Given the description of an element on the screen output the (x, y) to click on. 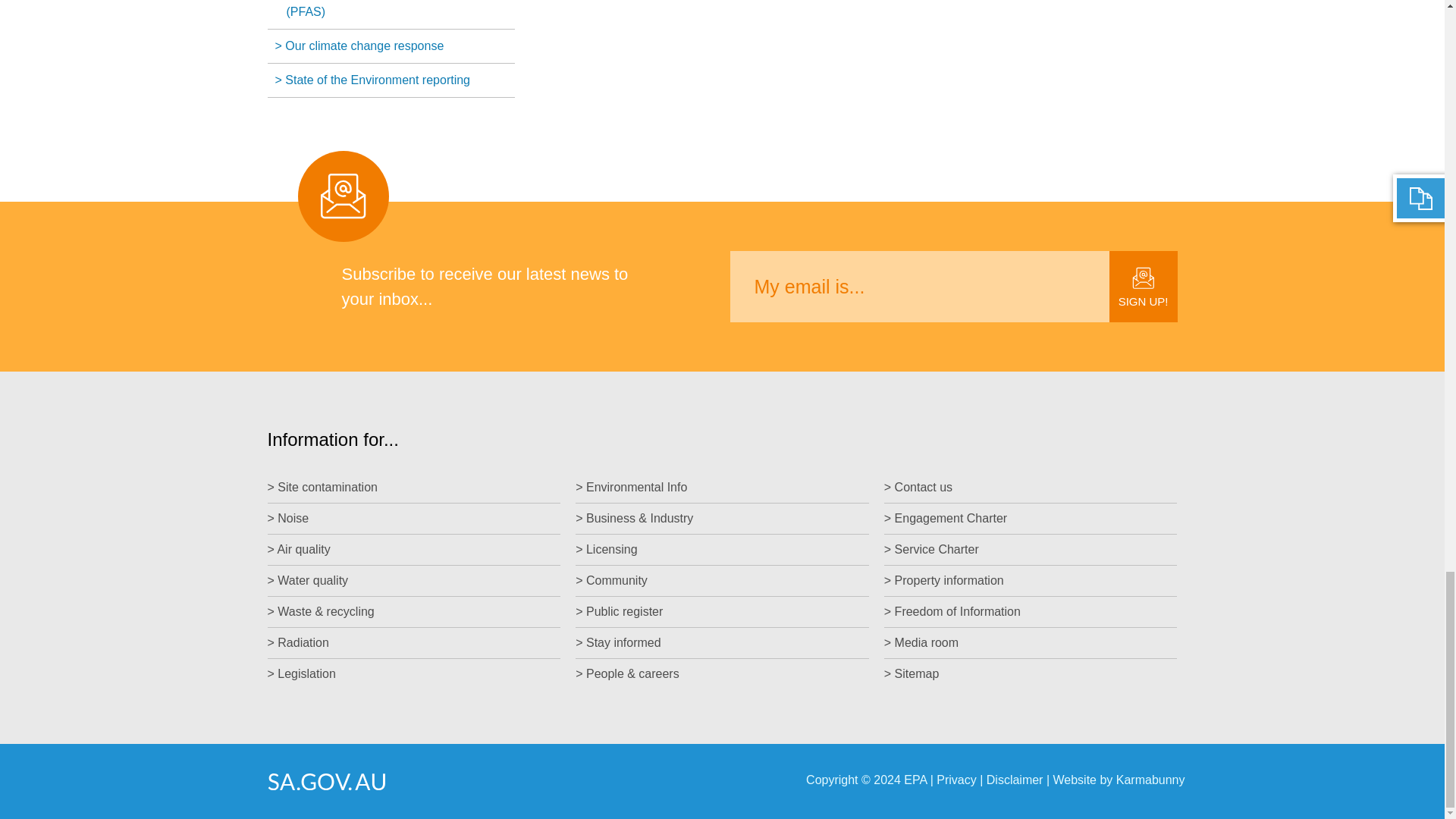
Sign up! (1143, 286)
